Given the description of an element on the screen output the (x, y) to click on. 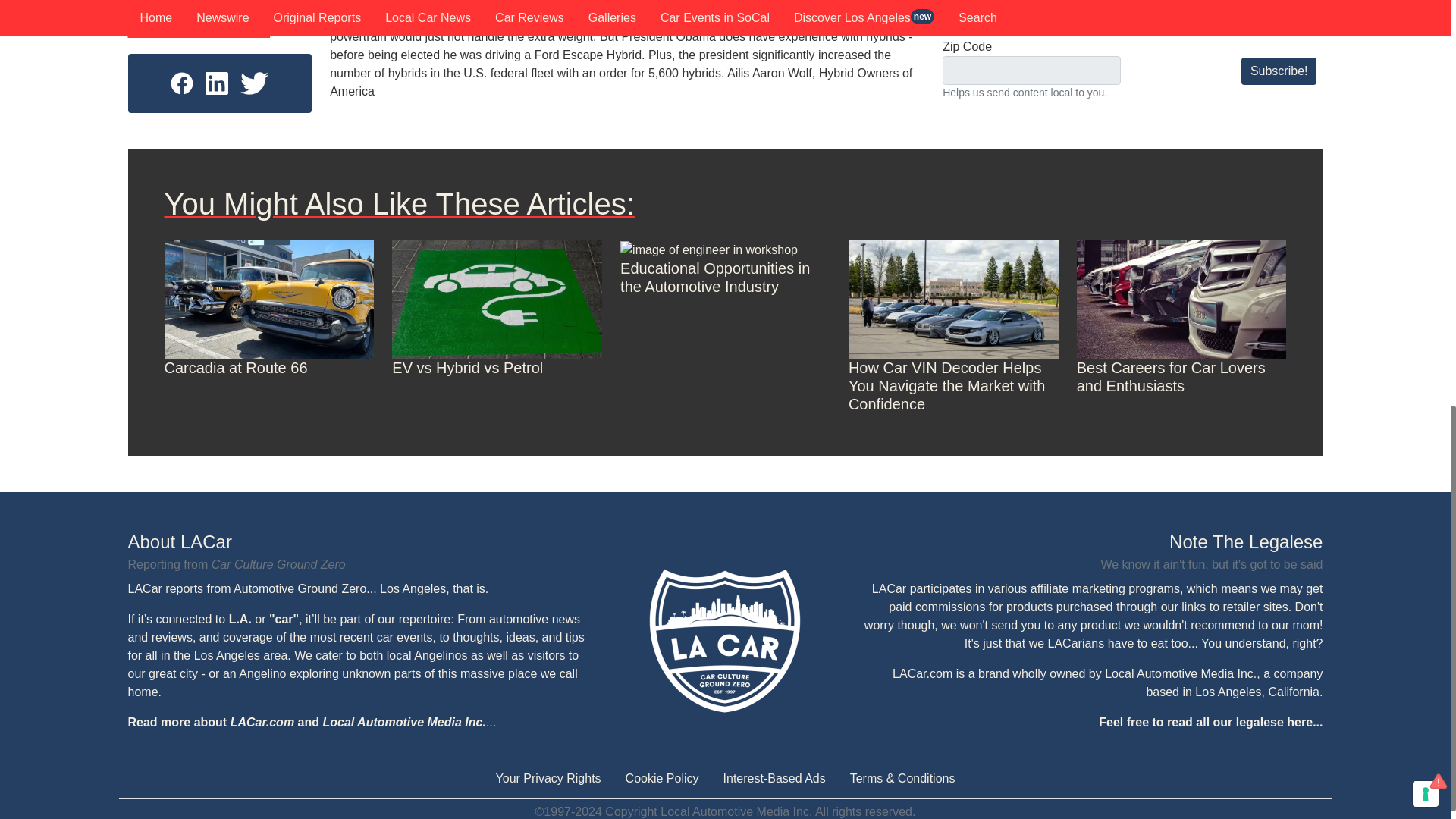
Feel free to read all our legalese here... (1210, 721)
Read more about LACar.com and Local Automotive Media Inc. (306, 721)
About LACar (358, 541)
